Given the description of an element on the screen output the (x, y) to click on. 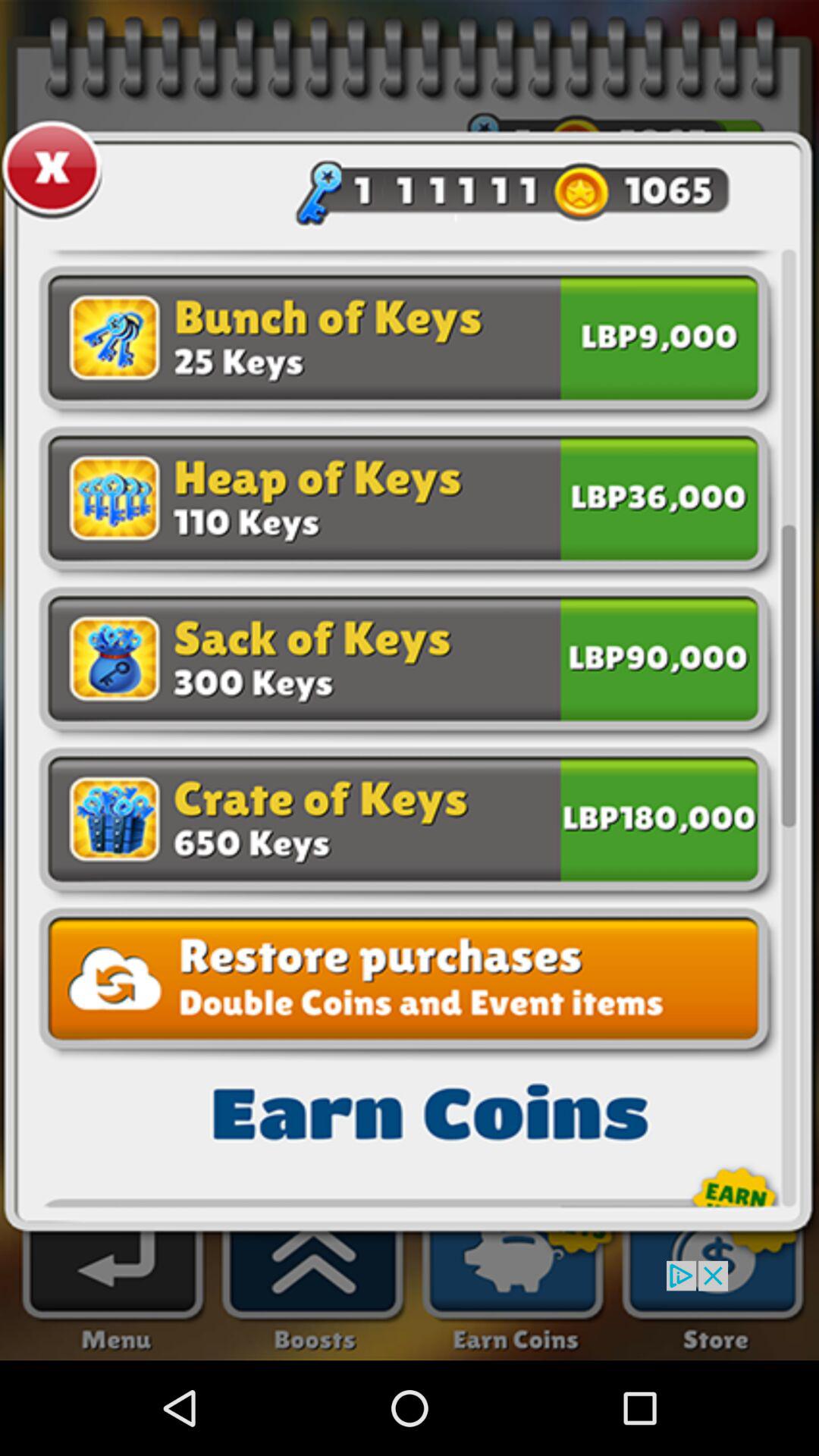
buy coins (659, 341)
